Given the description of an element on the screen output the (x, y) to click on. 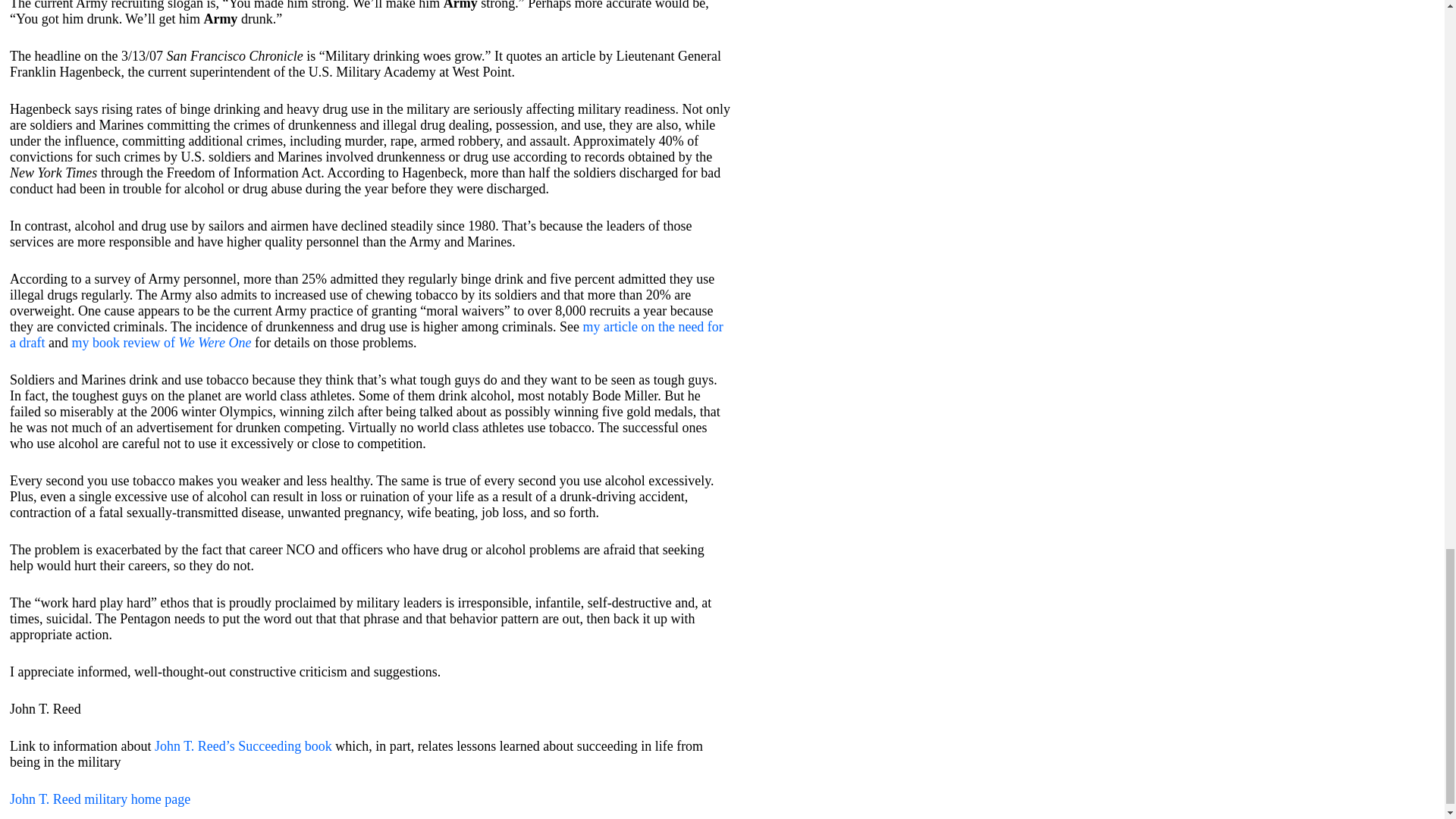
John T. Reed military home page (100, 798)
my article on the need for a draft (366, 334)
my book review of We Were One (160, 342)
